Given the description of an element on the screen output the (x, y) to click on. 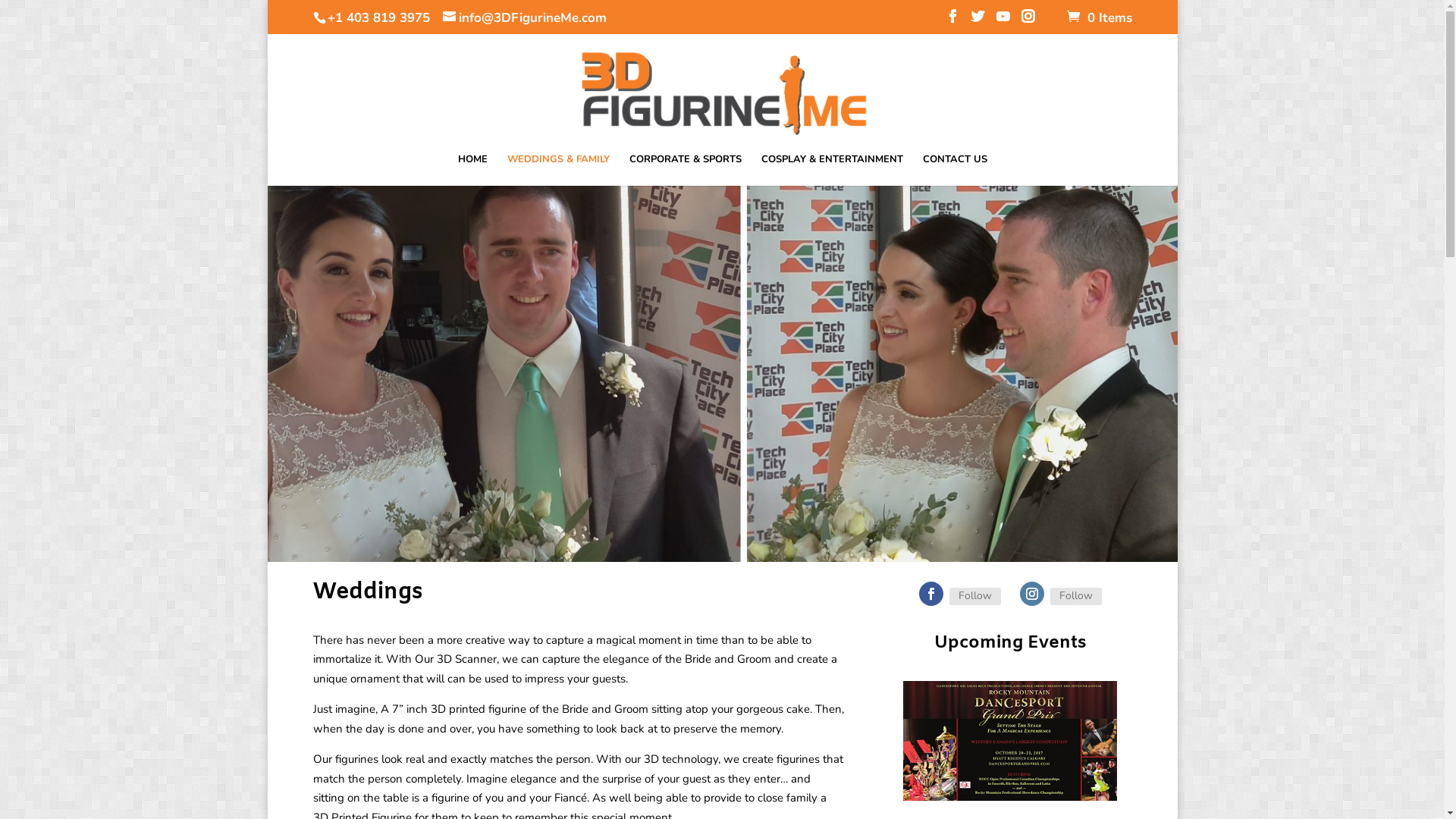
0 Items Element type: text (1098, 17)
CORPORATE & SPORTS Element type: text (685, 169)
CONTACT US Element type: text (954, 169)
+1 403 819 3975 Element type: text (375, 17)
HOME Element type: text (472, 169)
WEDDINGS & FAMILY Element type: text (557, 169)
Follow Element type: text (1075, 595)
Instagram Element type: hover (1031, 593)
COSPLAY & ENTERTAINMENT Element type: text (832, 169)
info@3DFigurineMe.com Element type: text (524, 17)
Follow Element type: text (975, 595)
Facebook Element type: hover (931, 593)
